Given the description of an element on the screen output the (x, y) to click on. 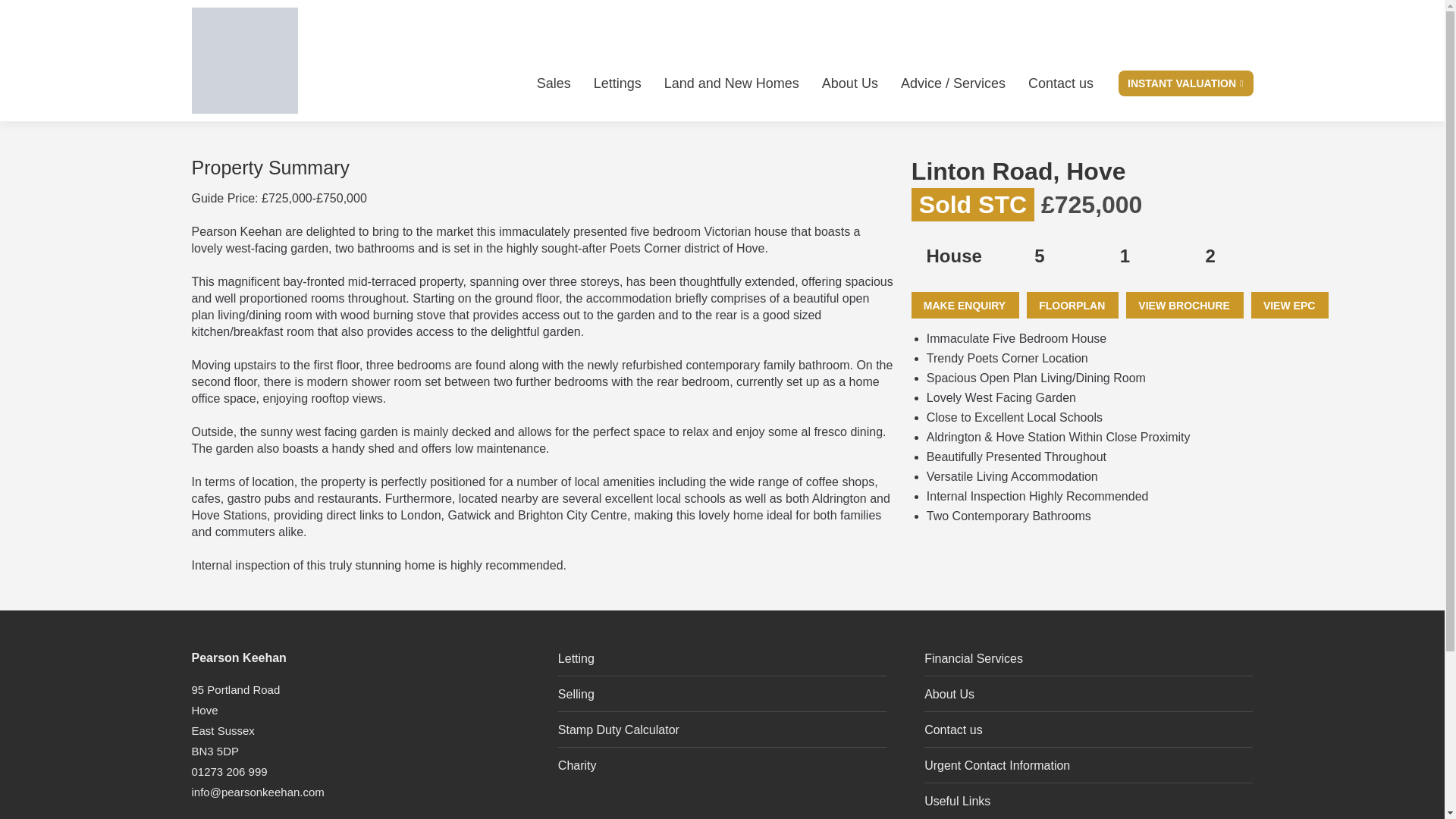
Lettings (617, 83)
VIEW EPC (1288, 304)
Land and New Homes (731, 83)
Contact us (1060, 83)
MAKE ENQUIRY (965, 304)
VIEW BROCHURE (1184, 304)
FLOORPLAN (1072, 304)
INSTANT VALUATION (1185, 83)
About Us (849, 83)
